Given the description of an element on the screen output the (x, y) to click on. 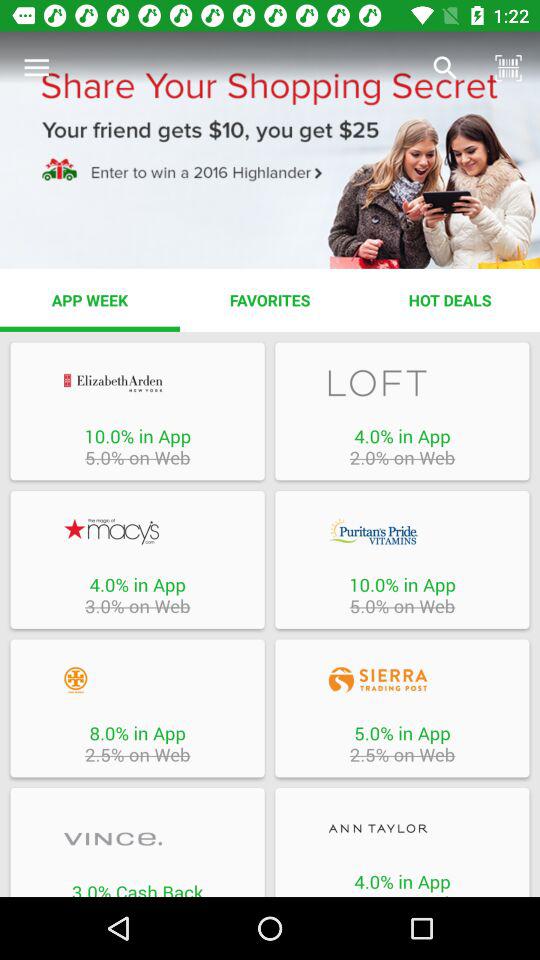
log into company app (402, 531)
